Given the description of an element on the screen output the (x, y) to click on. 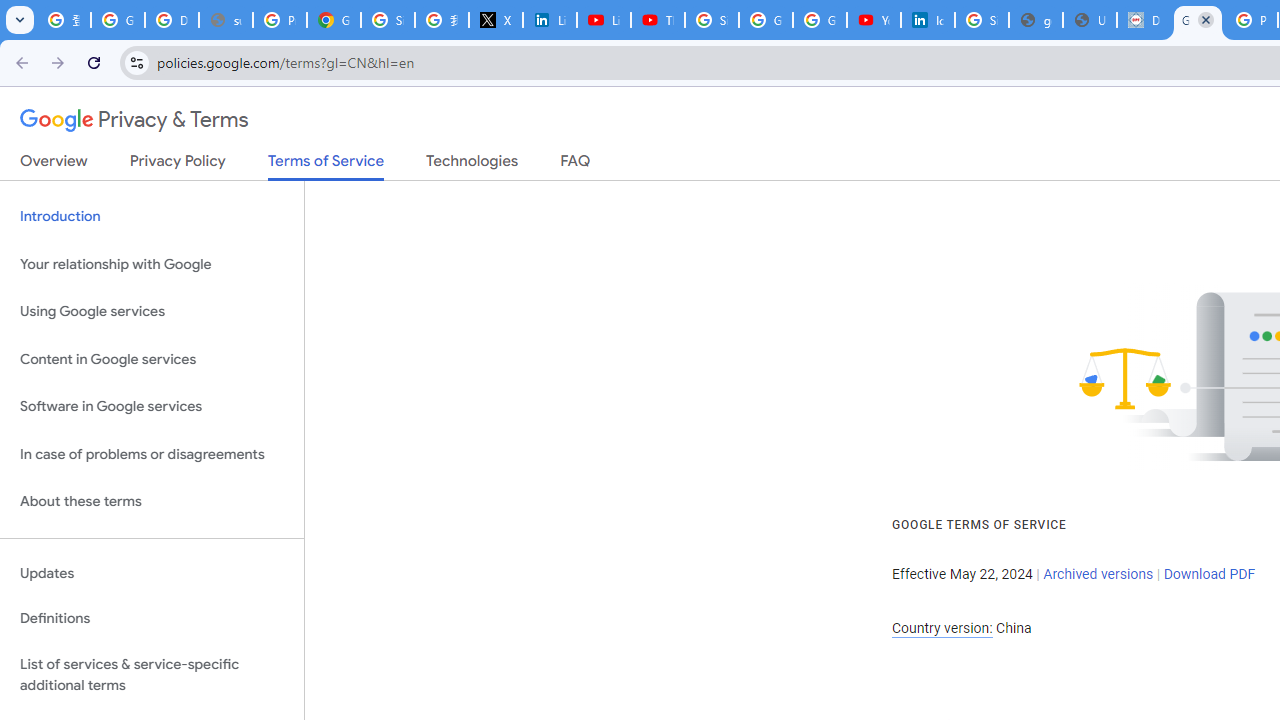
List of services & service-specific additional terms (152, 674)
support.google.com - Network error (225, 20)
Software in Google services (152, 407)
